Given the description of an element on the screen output the (x, y) to click on. 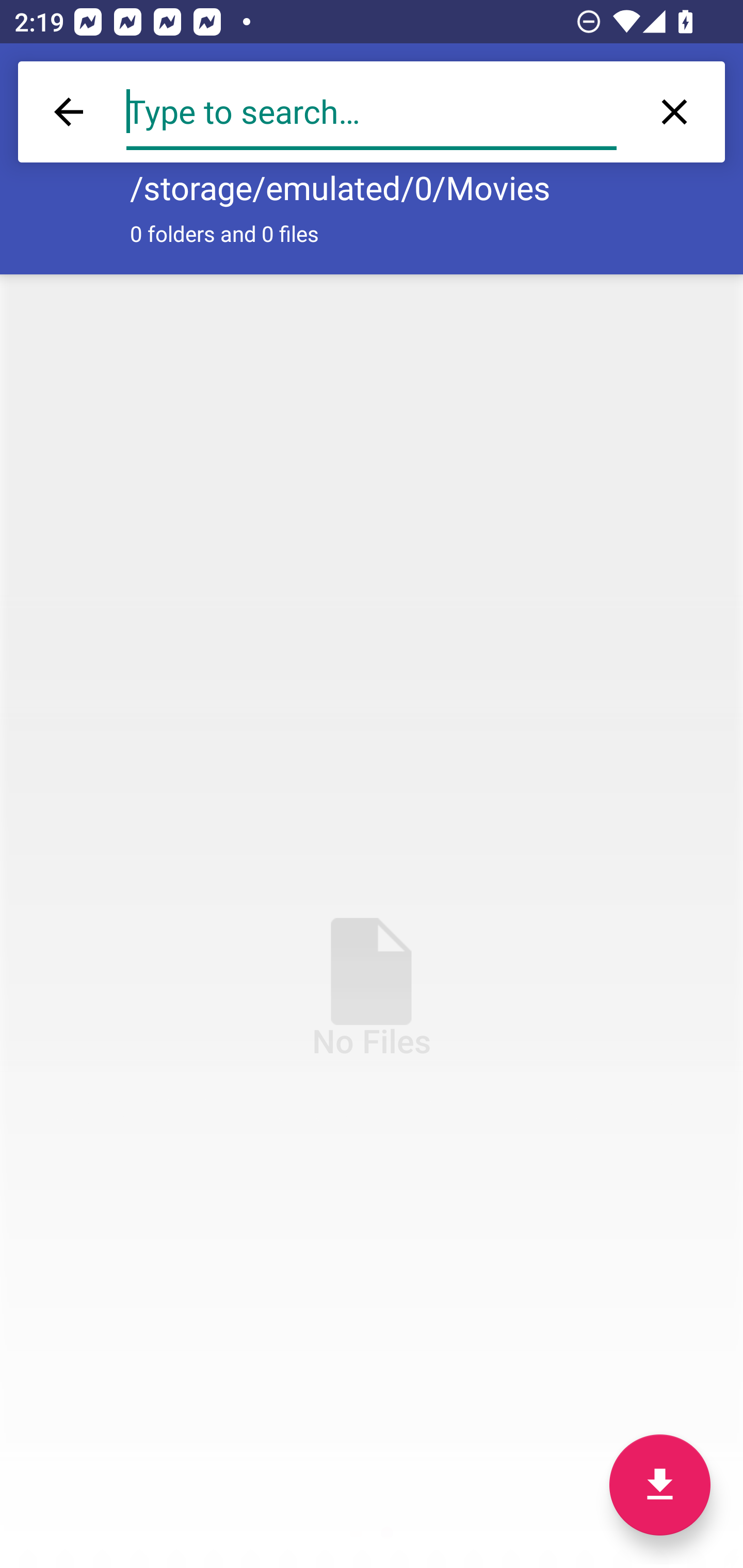
Navigate up (50, 93)
Type to search… (371, 112)
